Given the description of an element on the screen output the (x, y) to click on. 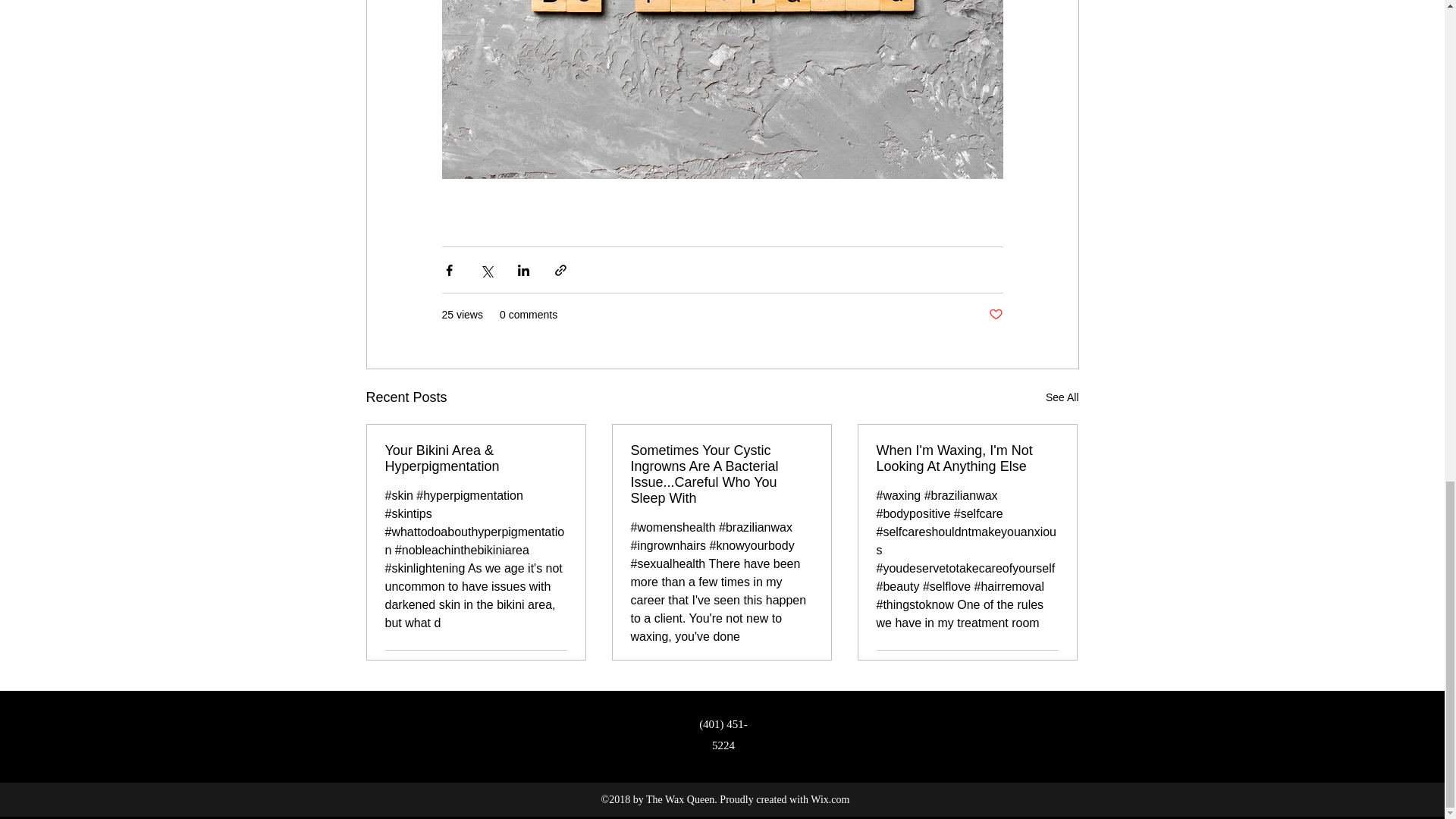
See All (1061, 397)
Post not marked as liked (995, 314)
When I'm Waxing, I'm Not Looking At Anything Else (967, 459)
